Given the description of an element on the screen output the (x, y) to click on. 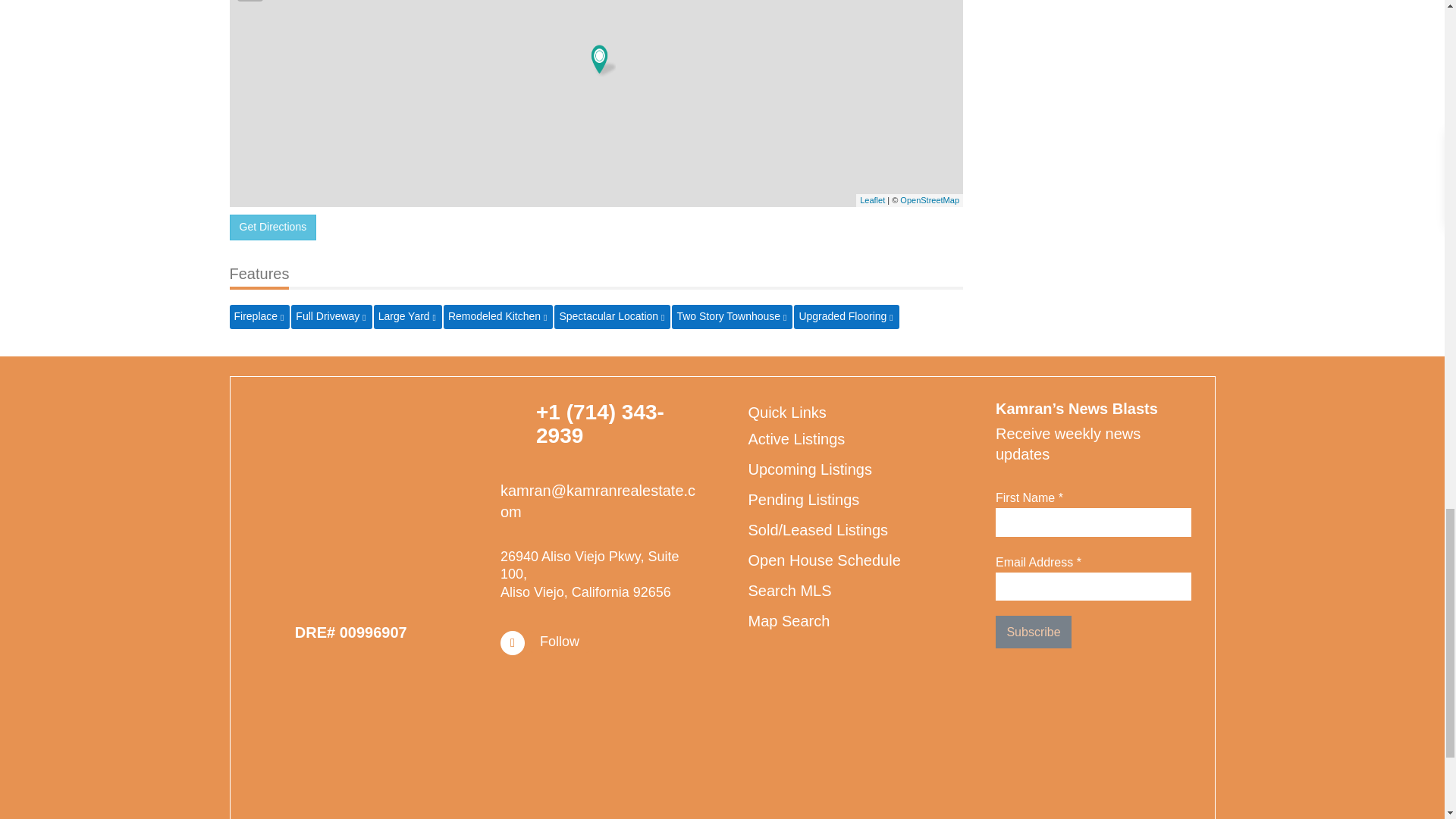
Follow on Facebook (512, 642)
Facebook (559, 641)
A JS library for interactive maps (872, 199)
